Given the description of an element on the screen output the (x, y) to click on. 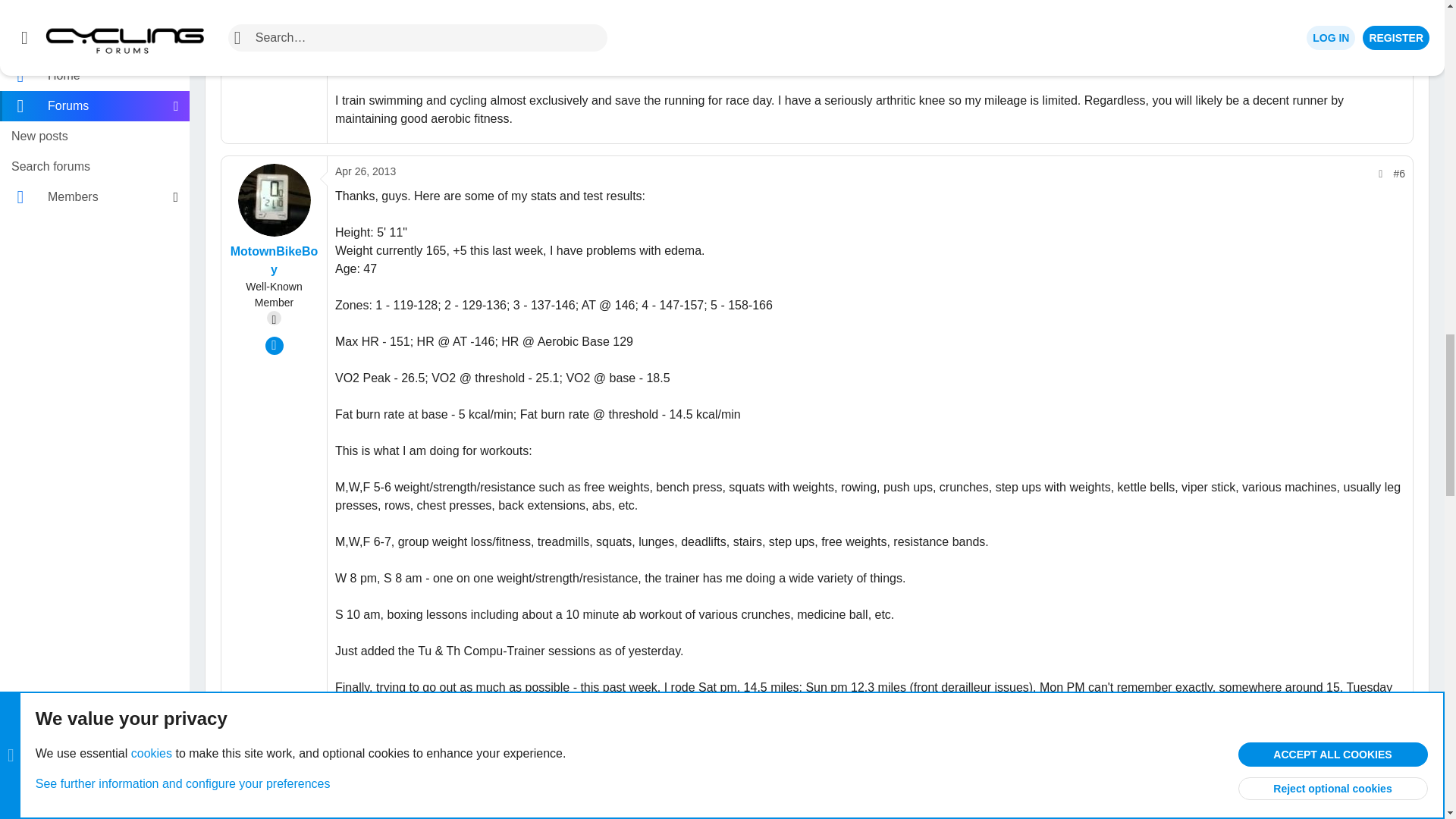
Apr 26, 2013 at 1:31 AM (365, 171)
Apr 26, 2013 at 7:31 AM (365, 812)
